Given the description of an element on the screen output the (x, y) to click on. 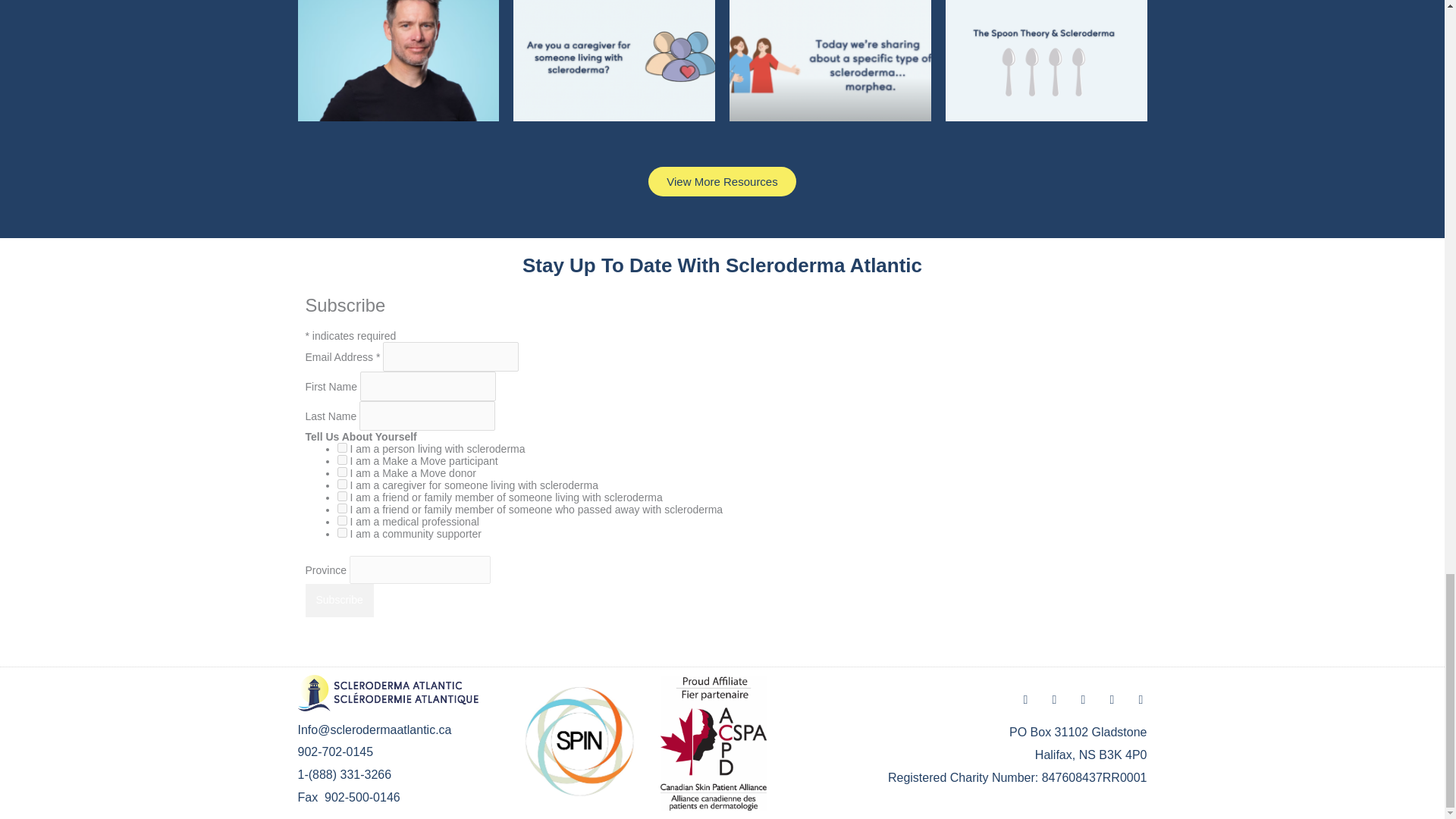
2048 (341, 532)
Subscribe (338, 599)
4096 (341, 508)
1024 (341, 520)
4 (341, 447)
1 (341, 460)
2 (341, 471)
512 (341, 496)
256 (341, 483)
